Given the description of an element on the screen output the (x, y) to click on. 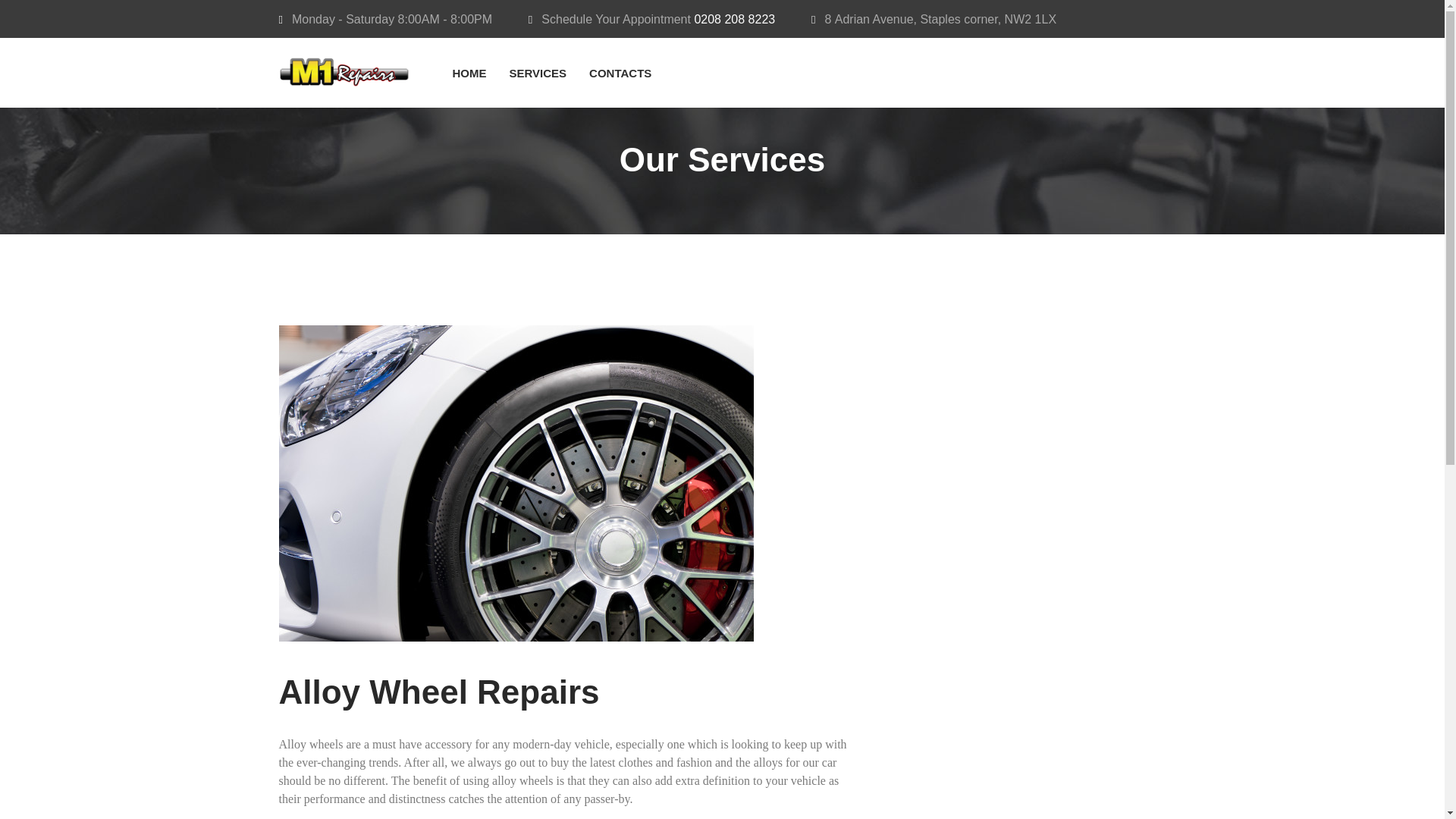
HOME (469, 73)
0208 208 8223 (734, 19)
SERVICES (537, 73)
CONTACTS (620, 73)
